Given the description of an element on the screen output the (x, y) to click on. 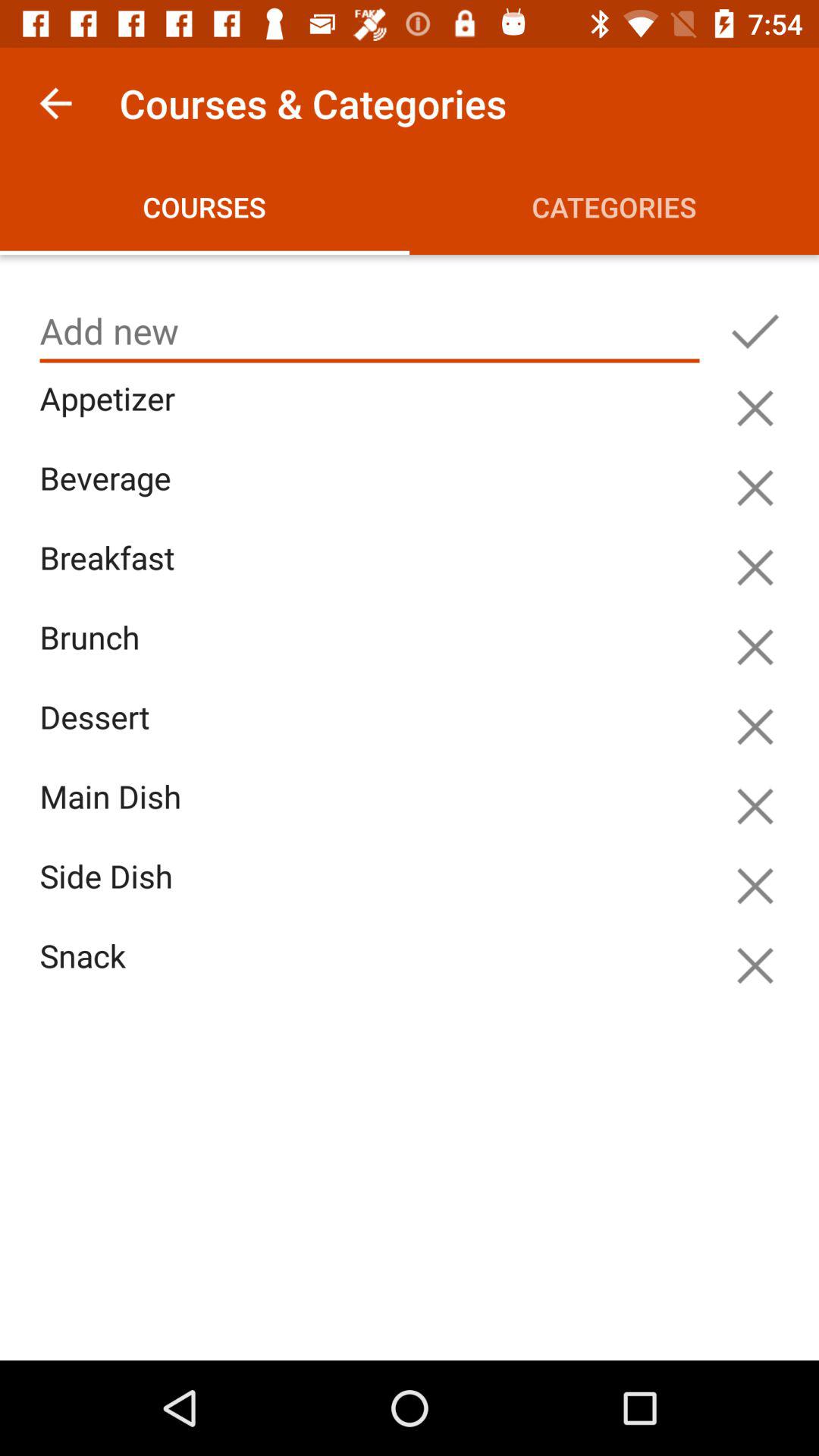
remove (755, 965)
